Given the description of an element on the screen output the (x, y) to click on. 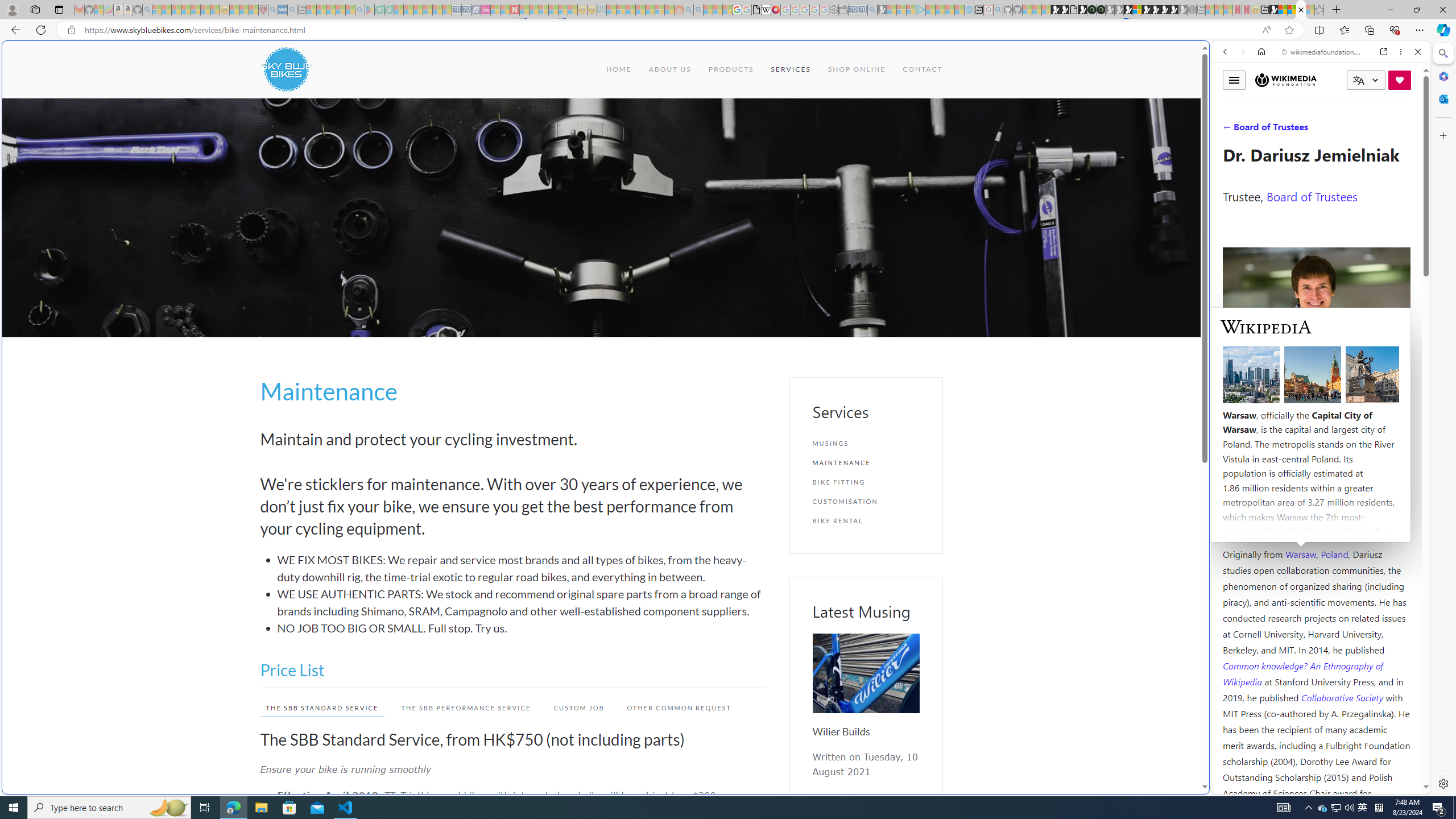
SEARCH TOOLS (1350, 130)
Web scope (1230, 102)
MAINTENANCE (865, 462)
utah sues federal government - Search - Sleeping (291, 9)
Recipes - MSN - Sleeping (234, 9)
Play Free Online Games | Games from Microsoft Start (1154, 9)
